Given the description of an element on the screen output the (x, y) to click on. 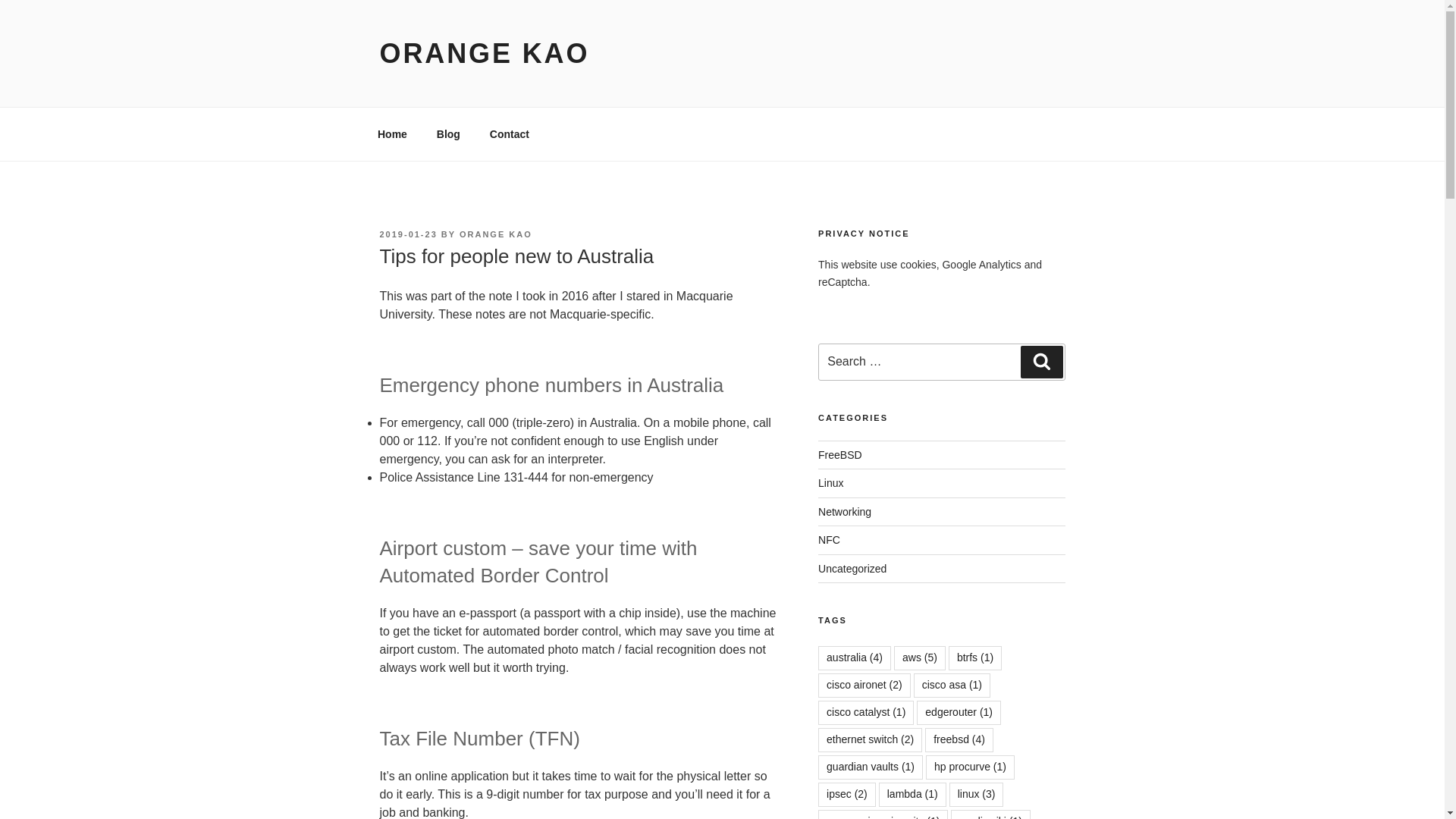
FreeBSD (839, 454)
Home (392, 133)
Networking (844, 511)
Contact (508, 133)
2019-01-23 (407, 234)
Linux (830, 482)
ORANGE KAO (483, 52)
Uncategorized (852, 568)
Blog (448, 133)
Search (1041, 361)
ORANGE KAO (496, 234)
NFC (829, 539)
